Given the description of an element on the screen output the (x, y) to click on. 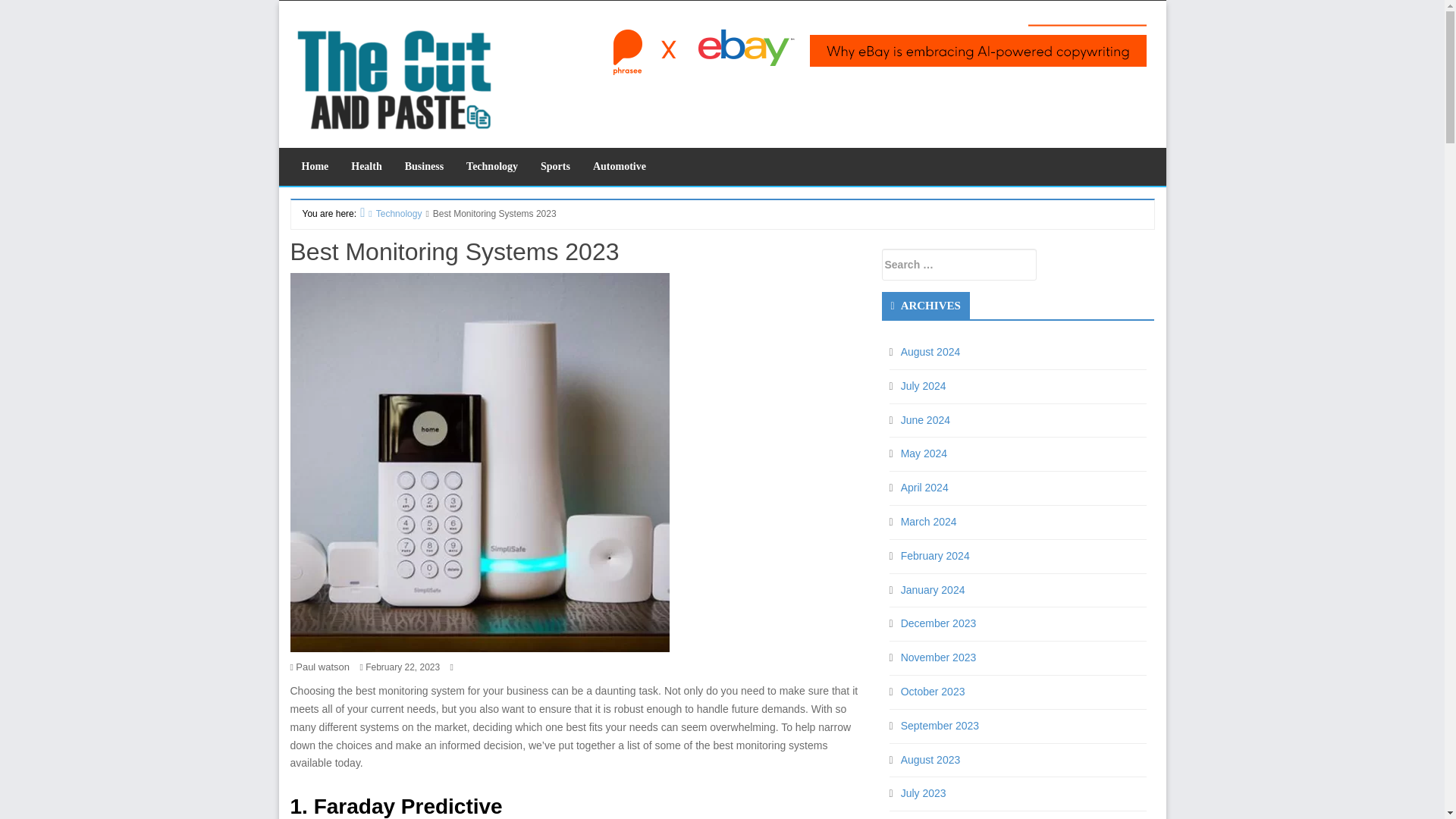
May 2024 (924, 419)
Home (314, 166)
Health (366, 166)
June 2023 (925, 793)
Paul watson (322, 666)
January 2024 (933, 555)
Automotive (619, 166)
September 2023 (940, 691)
Search (147, 12)
Business (423, 166)
October 2023 (933, 657)
Automotive (619, 166)
February 2024 (935, 521)
Wednesday, February 22, 2023, 6:49 am (402, 666)
July 2024 (923, 351)
